Given the description of an element on the screen output the (x, y) to click on. 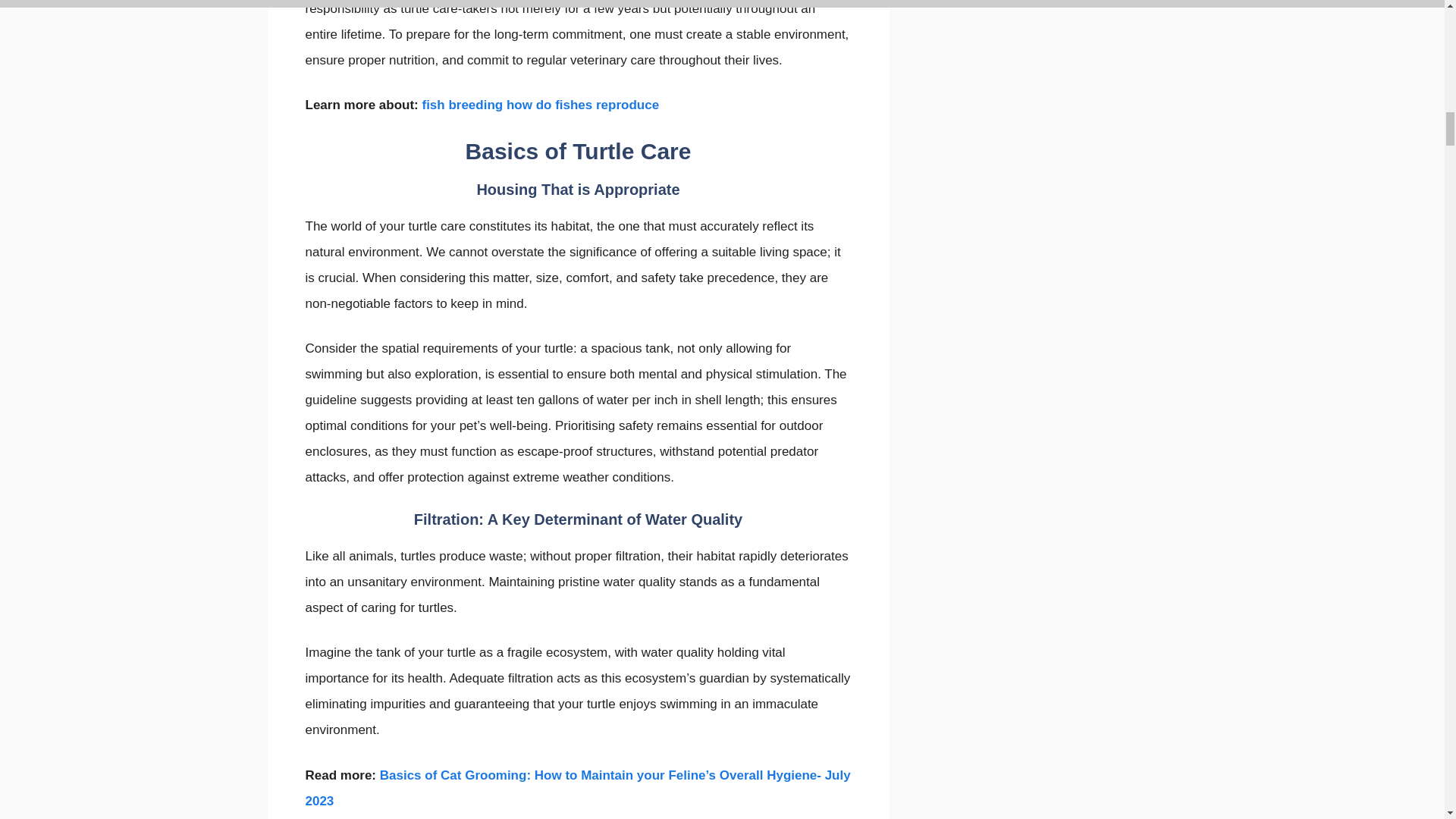
fish breeding how do fishes reproduce (540, 104)
